Given the description of an element on the screen output the (x, y) to click on. 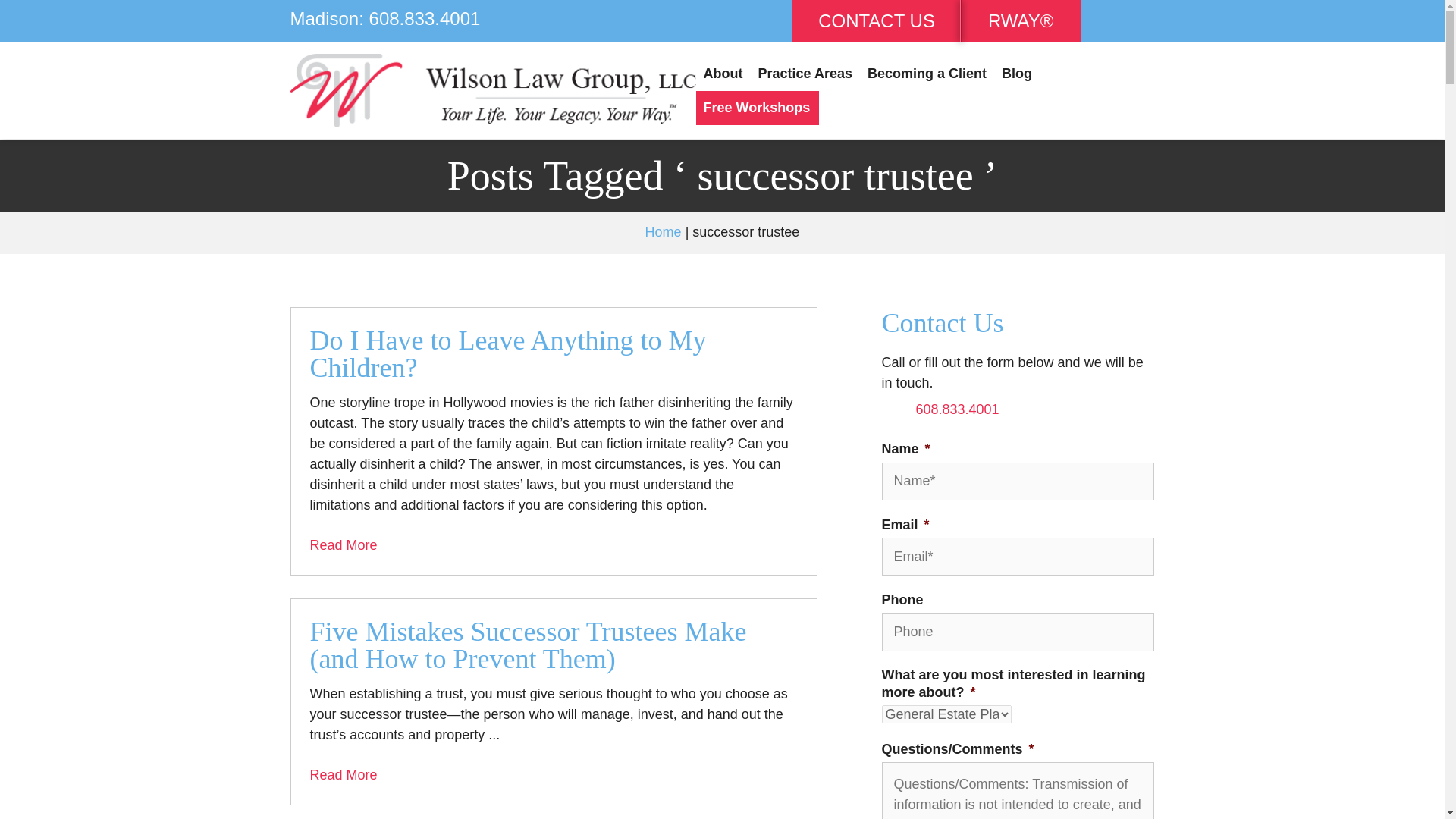
CONTACT US (876, 21)
About (723, 73)
Go to Wilson Law Group, LLC. (663, 231)
Practice Areas (805, 73)
608.833.4001 (956, 409)
608.833.4001 (424, 18)
Read More (342, 774)
Blog (1016, 73)
Free Workshops (757, 107)
Becoming a Client (927, 73)
Home (663, 231)
Do I Have to Leave Anything to My Children? (552, 353)
Read More (342, 544)
